Given the description of an element on the screen output the (x, y) to click on. 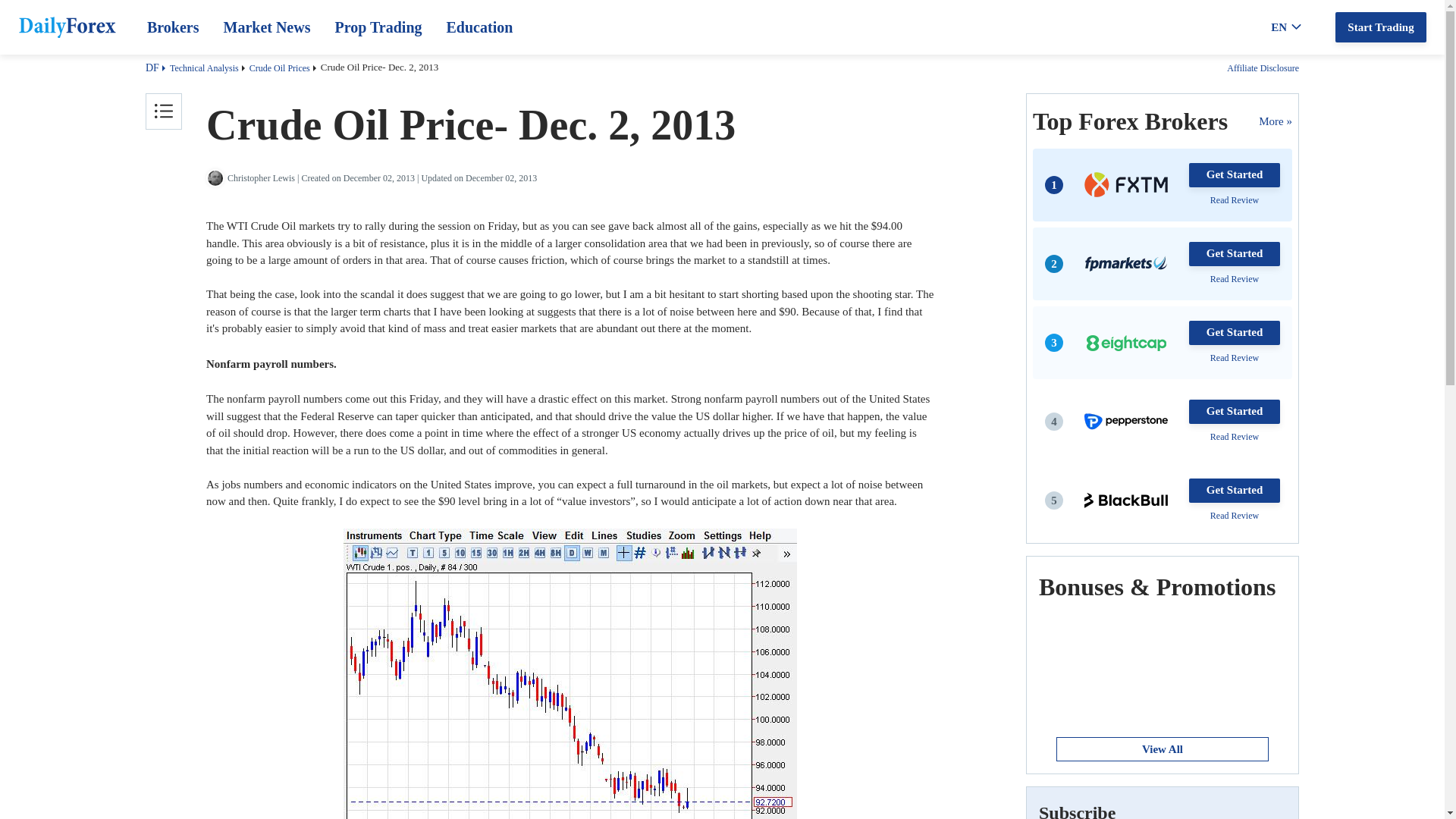
Eightcap (1125, 342)
Brokers (173, 27)
Pepperstone (1125, 421)
BlackBull Markets (1125, 500)
DailyForex (66, 27)
DailyForex (66, 29)
Crude Oil (569, 673)
FP Markets (1125, 263)
FXTM (1125, 184)
